Given the description of an element on the screen output the (x, y) to click on. 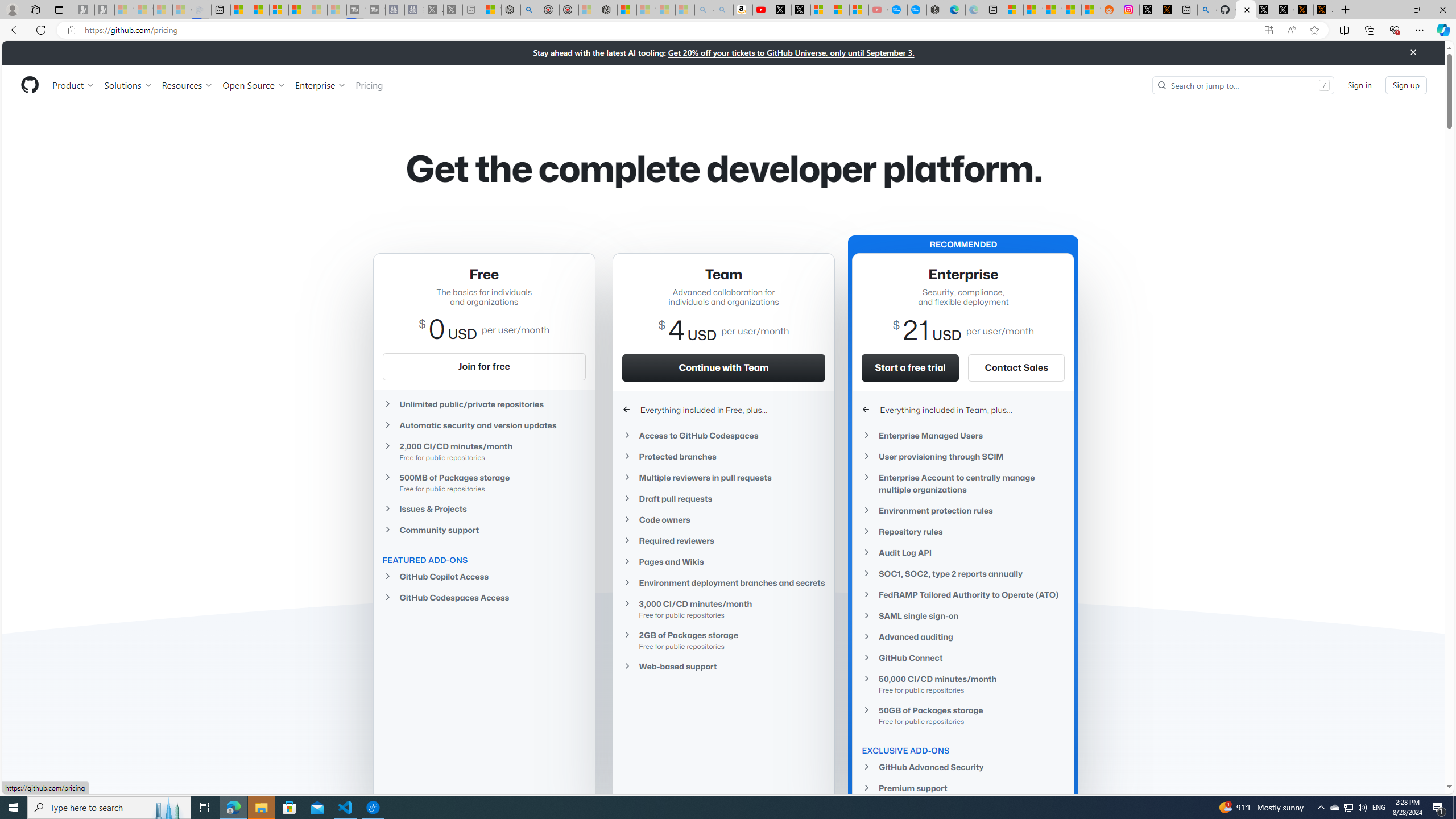
50GB of Packages storage Free for public repositories (963, 715)
Product (74, 84)
Automatic security and version updates (483, 425)
Homepage (29, 85)
poe - Search (529, 9)
Community support (483, 529)
Sign up (1406, 84)
Access to GitHub Codespaces (723, 435)
Log in to X / X (1148, 9)
GitHub Copilot Access (483, 576)
Shanghai, China Weather trends | Microsoft Weather (1090, 9)
Environment deployment branches and secrets (723, 582)
help.x.com | 524: A timeout occurred (1168, 9)
Draft pull requests (723, 498)
